Given the description of an element on the screen output the (x, y) to click on. 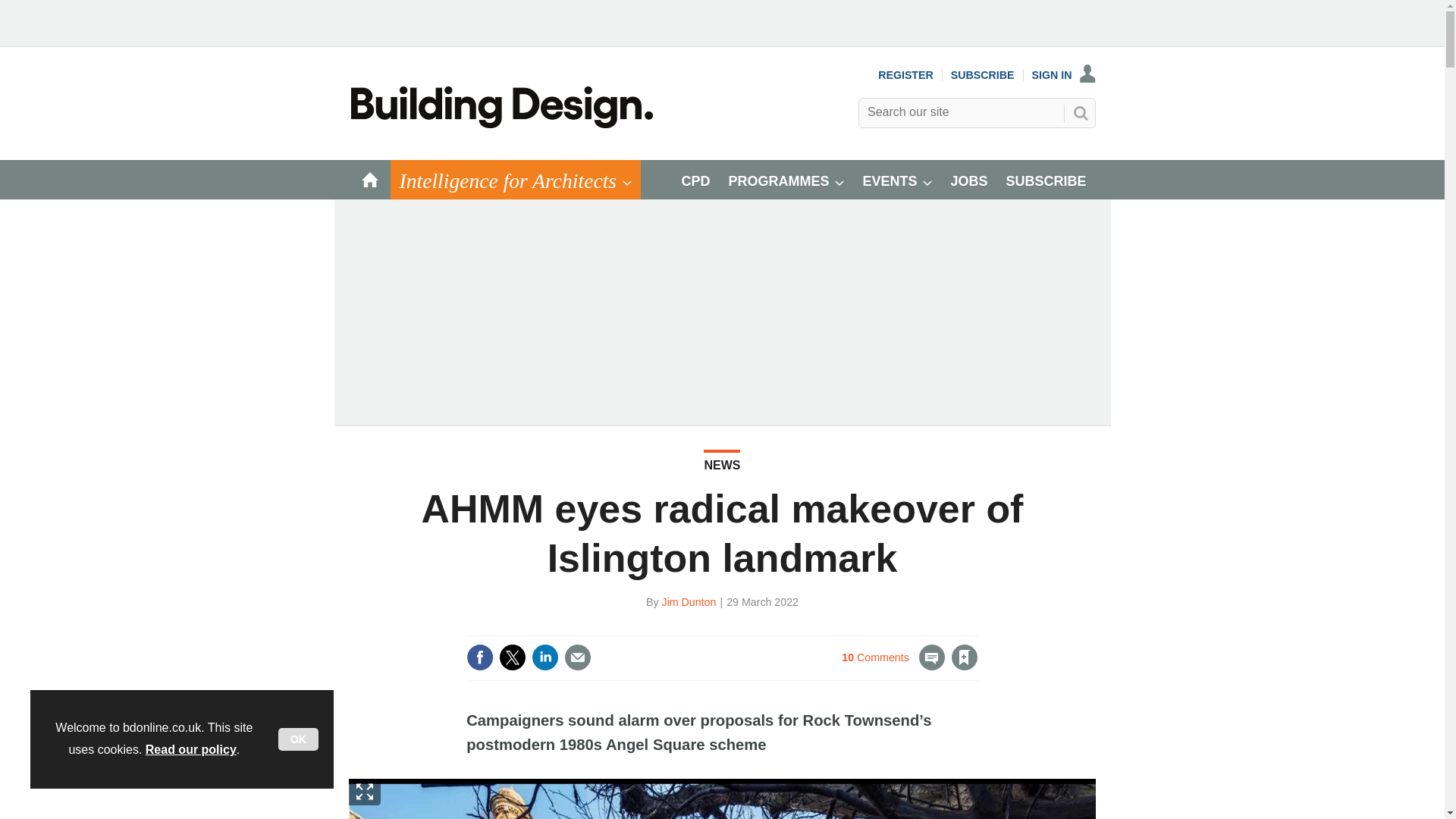
SEARCH (1079, 112)
Read our policy (190, 748)
SUBSCRIBE (982, 74)
Share this on Facebook (479, 656)
REGISTER (905, 74)
Email this article (577, 656)
Share this on Linked in (545, 656)
10 Comments (892, 666)
